Given the description of an element on the screen output the (x, y) to click on. 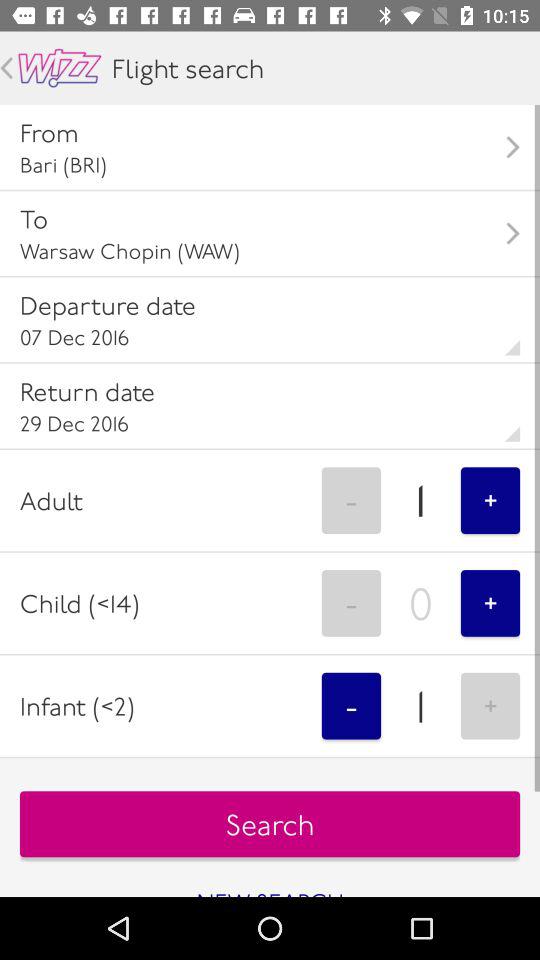
choose icon to the left of the 1 (351, 705)
